Given the description of an element on the screen output the (x, y) to click on. 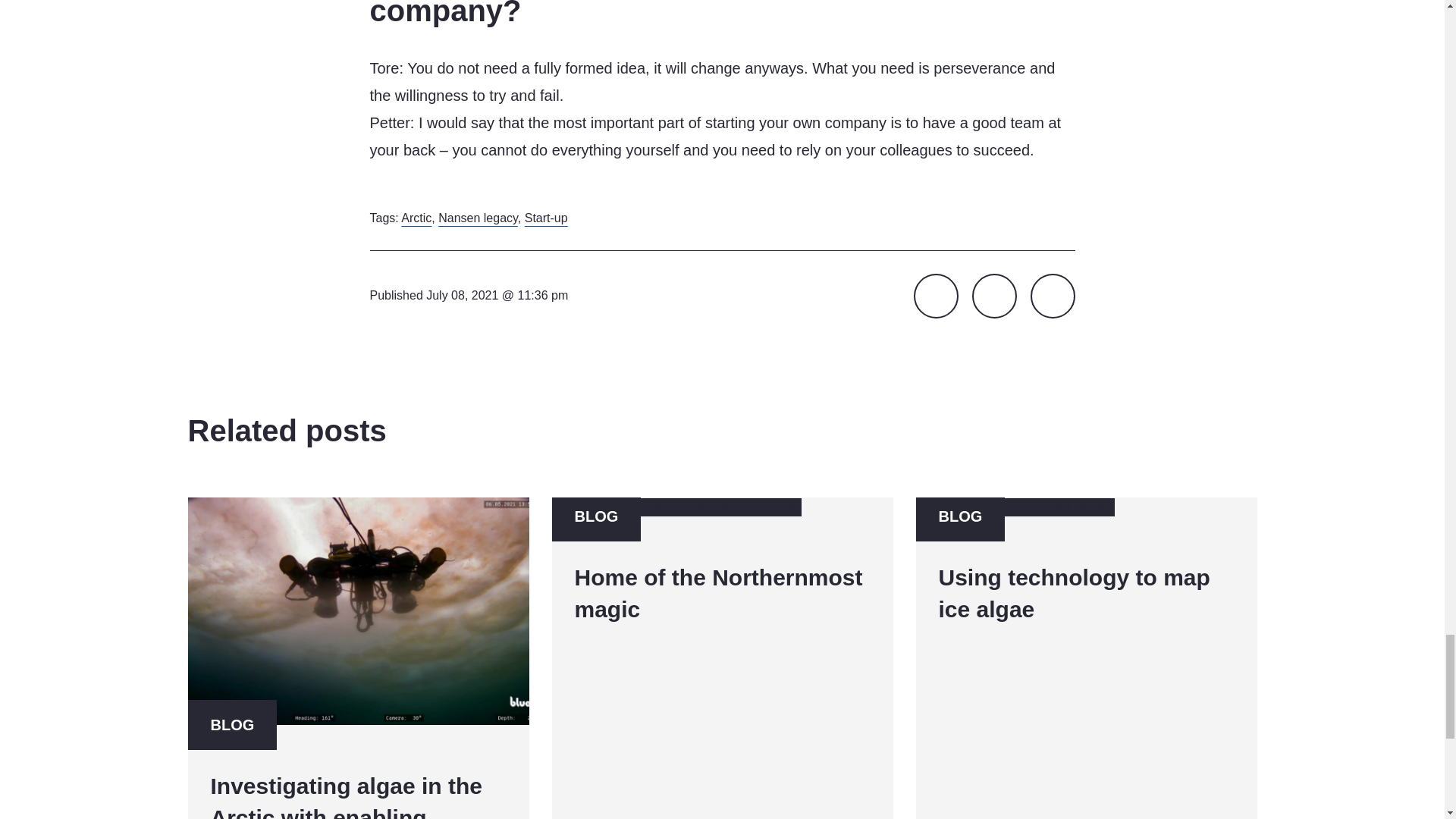
Nansen legacy (478, 217)
Share on Linkedin (722, 658)
Share with E-mail (994, 295)
Arctic (1086, 658)
Start-up (1051, 295)
Share on Facebook (415, 217)
Read more about Home of the Northernmost magic (545, 217)
